Given the description of an element on the screen output the (x, y) to click on. 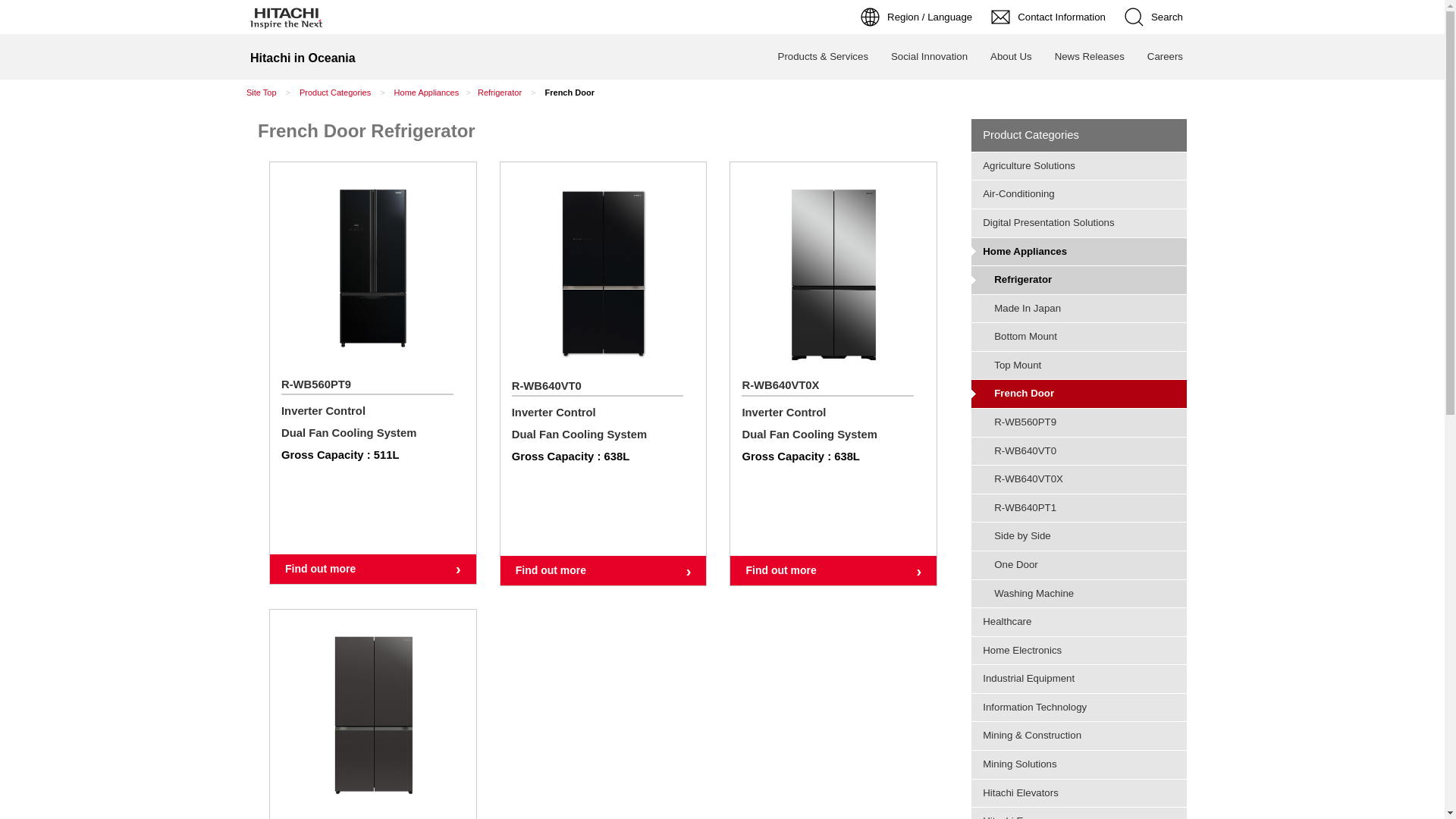
French Door Element type: text (1078, 393)
Top Mount Element type: text (1078, 365)
News Releases Element type: text (1089, 56)
Made In Japan Element type: text (1078, 308)
Home Electronics Element type: text (1078, 650)
One Door Element type: text (1078, 564)
Refrigerator Element type: text (1078, 279)
Air-Conditioning Element type: text (1078, 193)
Hitachi Elevators Element type: text (1078, 792)
R-WB640PT1 Element type: text (1078, 507)
Healthcare Element type: text (1078, 621)
Refrigerator Element type: text (499, 92)
Industrial Equipment Element type: text (1078, 678)
Agriculture Solutions Element type: text (1078, 166)
R-WB640VT0X Element type: text (1078, 478)
Find out more Element type: text (603, 569)
Washing Machine Element type: text (1078, 593)
About Us Element type: text (1011, 56)
Mining & Construction Element type: text (1078, 735)
Mining Solutions Element type: text (1078, 763)
Careers Element type: text (1164, 56)
Side by Side Element type: text (1078, 535)
Products & Services Element type: text (822, 56)
Region / Language Element type: text (918, 17)
Product Categories Element type: text (334, 92)
Home Appliances Element type: text (426, 92)
Contact Information Element type: text (1050, 17)
Hitachi in Oceania Element type: text (302, 56)
R-WB640VT0 Element type: text (1078, 450)
Home Appliances Element type: text (1078, 251)
Search Element type: text (1155, 17)
Find out more Element type: text (833, 569)
Site Top Element type: text (261, 92)
Social Innovation Element type: text (929, 56)
Digital Presentation Solutions Element type: text (1078, 222)
Information Technology Element type: text (1078, 707)
Find out more Element type: text (372, 568)
Bottom Mount Element type: text (1078, 336)
R-WB560PT9 Element type: text (1078, 421)
